Given the description of an element on the screen output the (x, y) to click on. 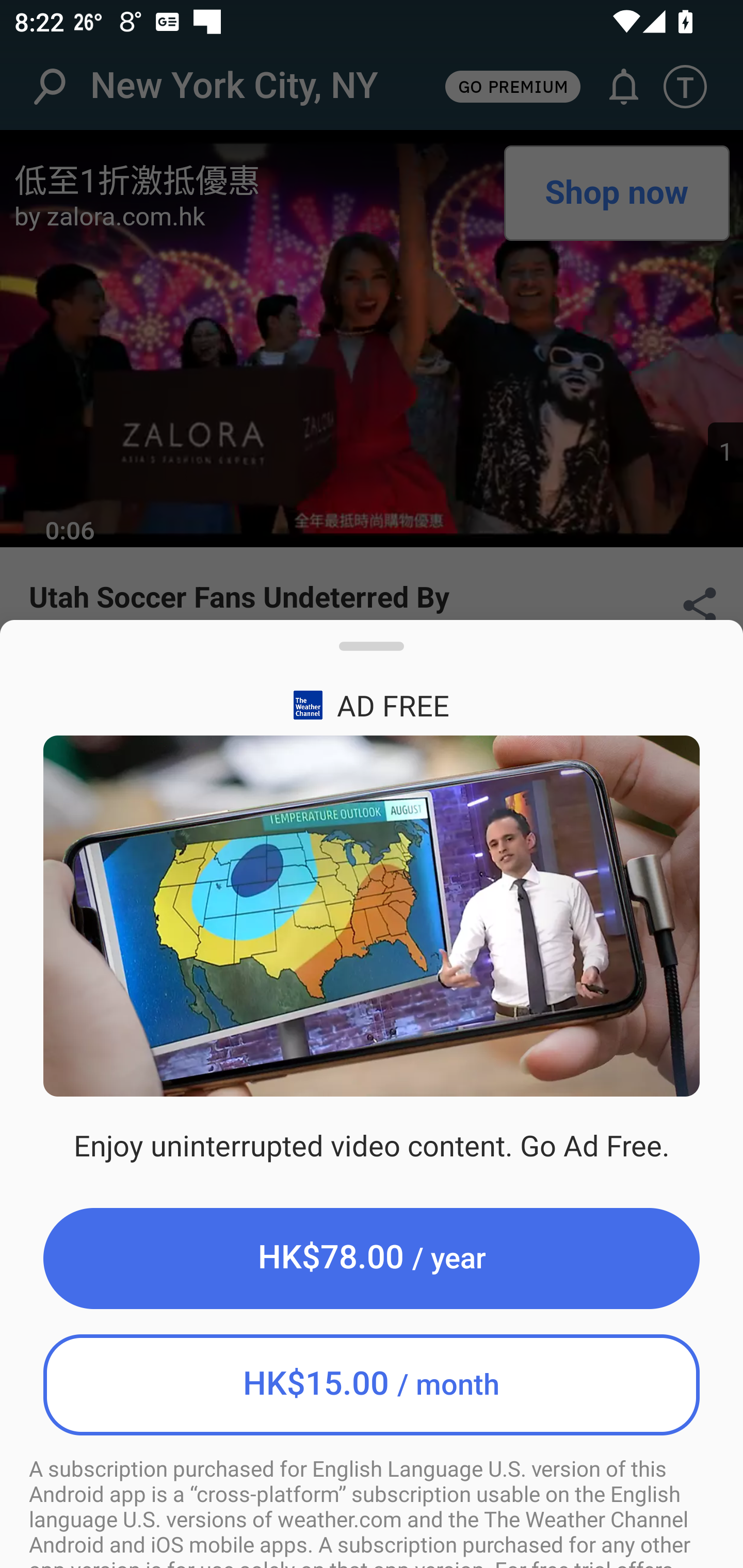
show full description (371, 653)
Logo icon AD FREE (371, 704)
HK$78.00 / year (371, 1258)
HK$15.00 / month (371, 1384)
